Given the description of an element on the screen output the (x, y) to click on. 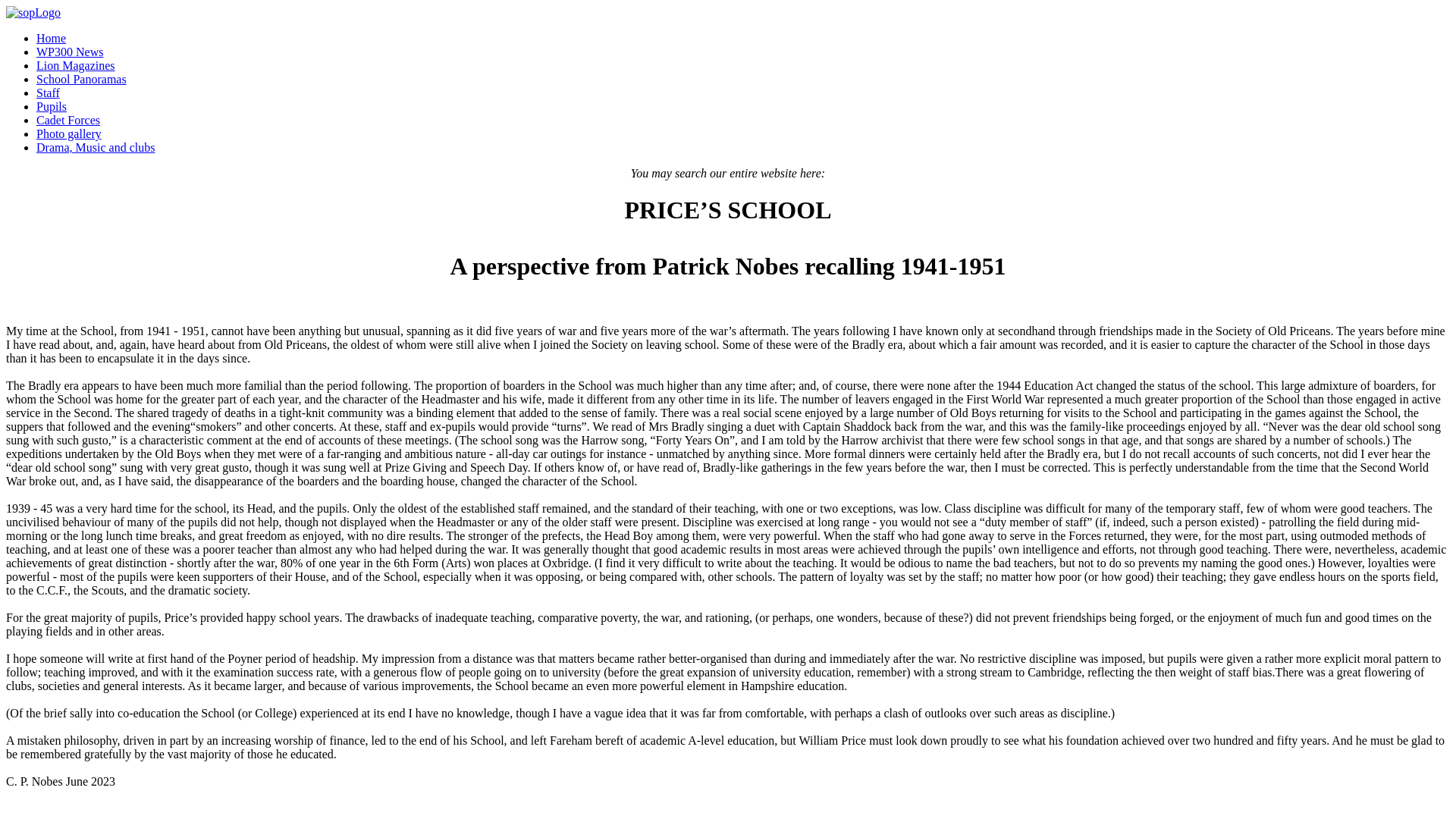
Lion Magazines (75, 65)
School Panoramas (81, 78)
Drama, Music and clubs (95, 146)
WP300 News (69, 51)
Home (50, 38)
Photo gallery (68, 133)
Staff (47, 92)
Cadet Forces (68, 119)
Pupils (51, 106)
